Given the description of an element on the screen output the (x, y) to click on. 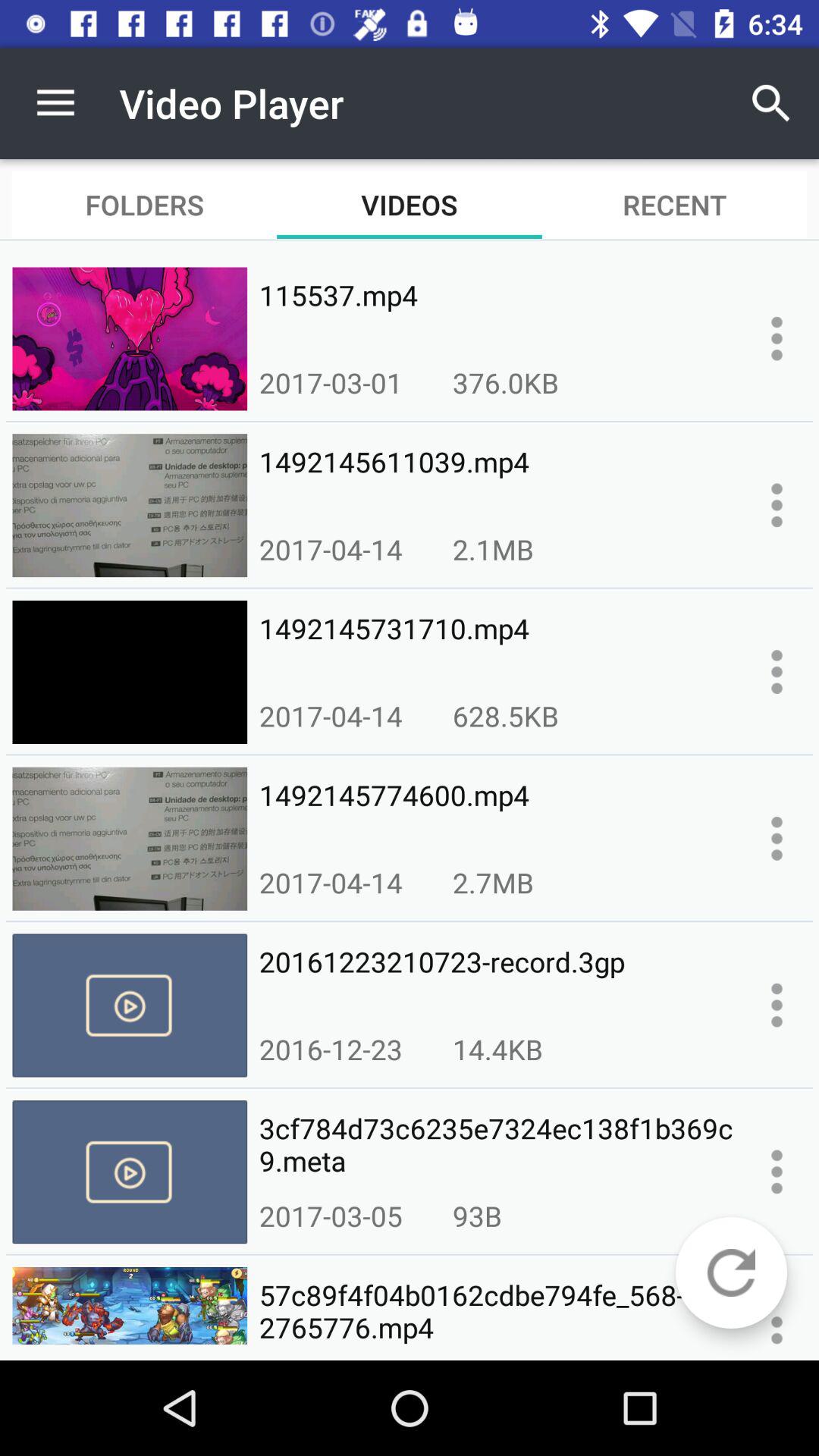
choose item next to the 14.4kb icon (330, 1049)
